Given the description of an element on the screen output the (x, y) to click on. 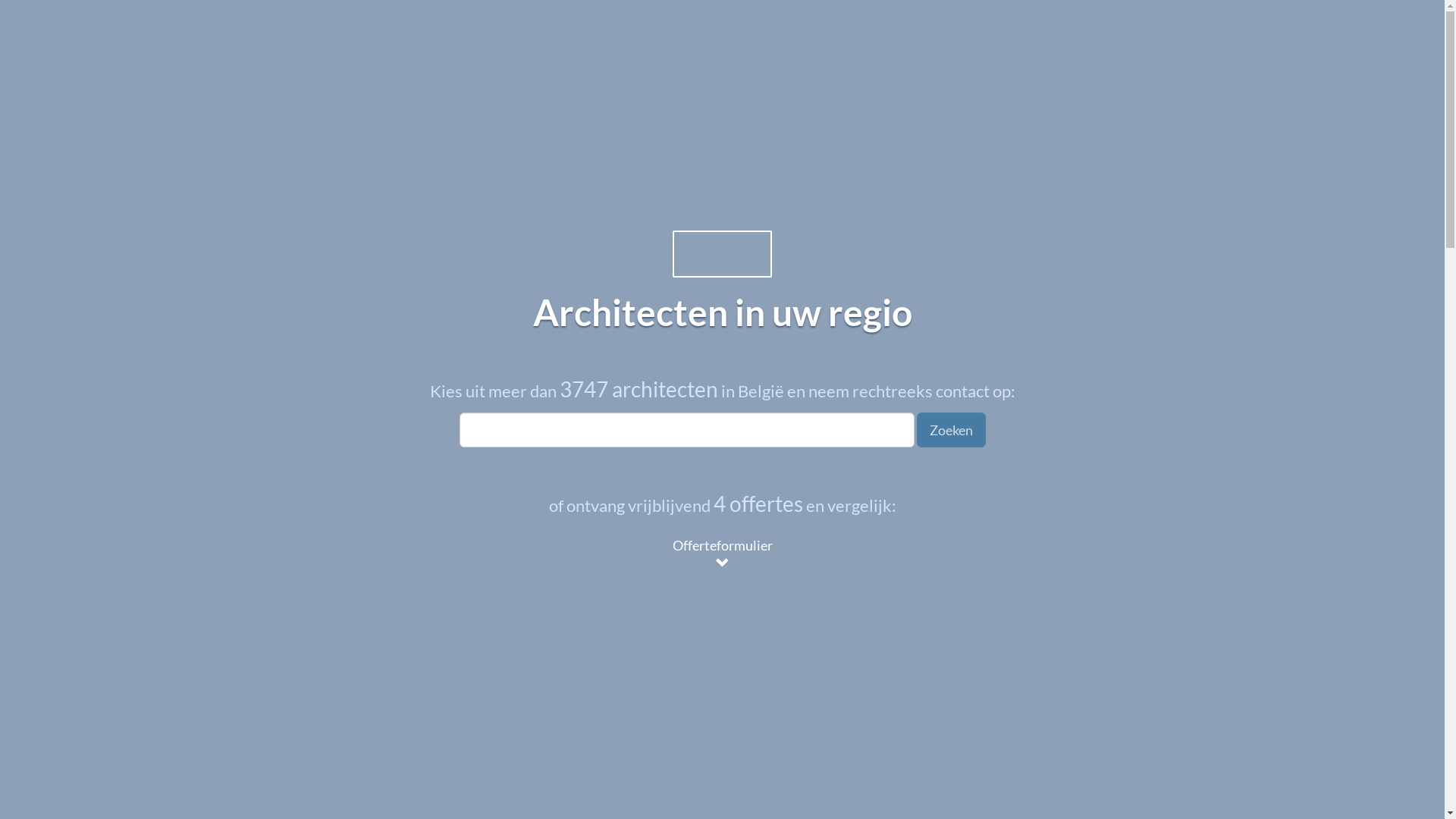
Offerteformulier Element type: text (722, 553)
Zoeken Element type: text (950, 429)
